Given the description of an element on the screen output the (x, y) to click on. 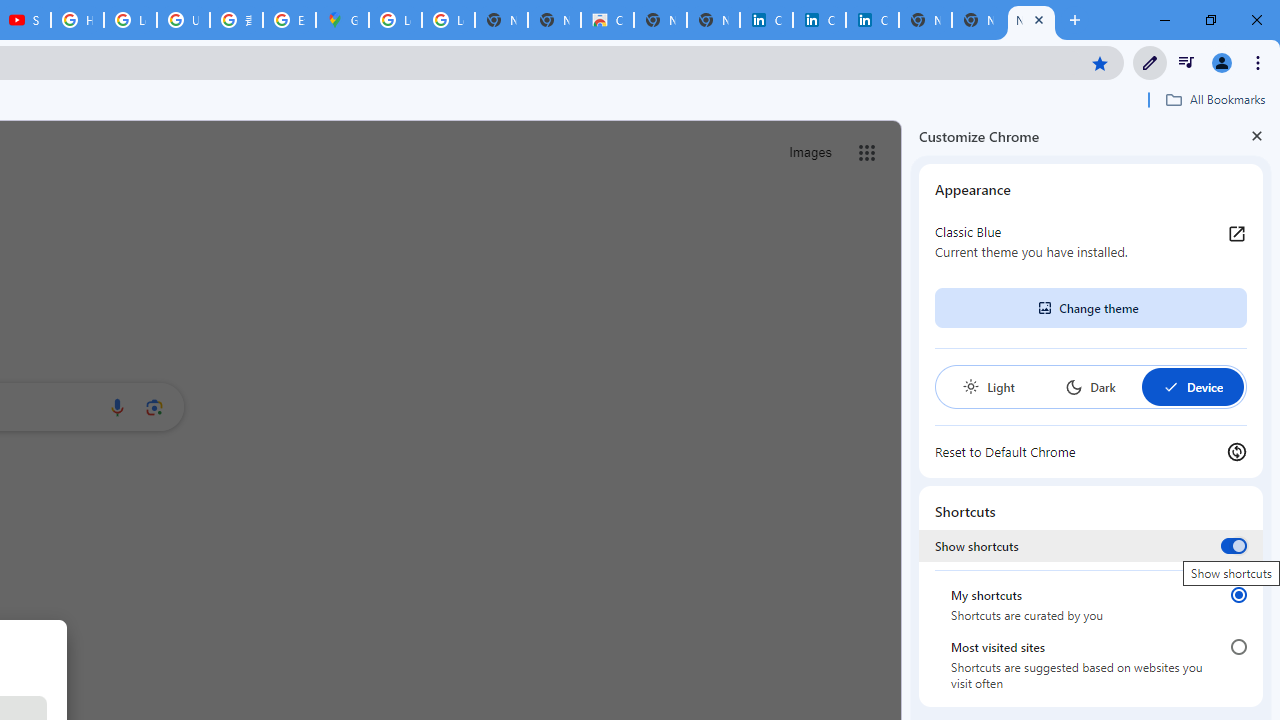
New Tab (1031, 20)
Most visited sites (1238, 647)
Cookie Policy | LinkedIn (766, 20)
AutomationID: baseSvg (1170, 386)
Control your music, videos, and more (1185, 62)
Explore new street-level details - Google Maps Help (289, 20)
Show shortcuts (1233, 545)
Copyright Policy (872, 20)
Customize Chrome (1149, 62)
Change theme (1090, 308)
